Given the description of an element on the screen output the (x, y) to click on. 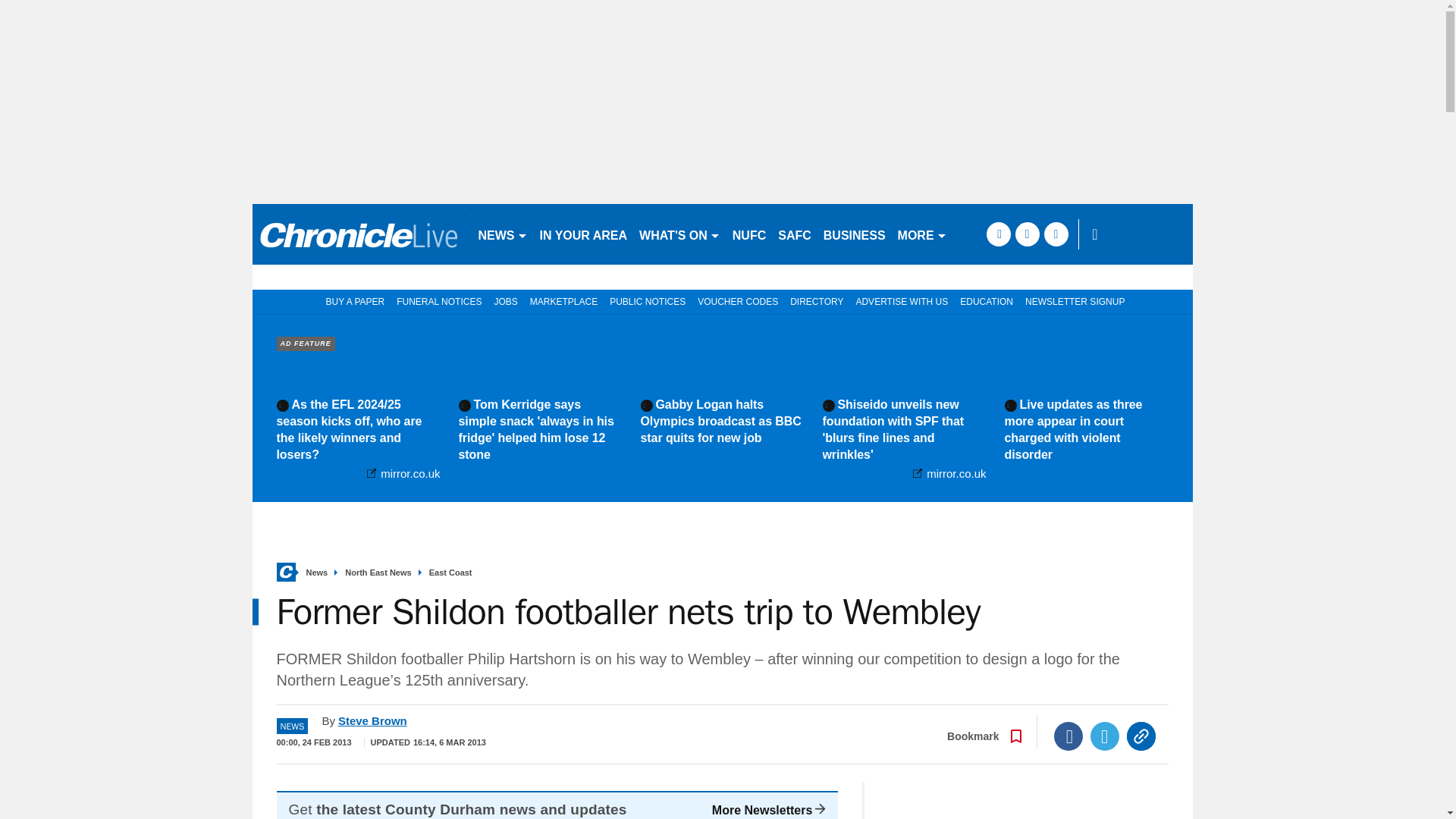
twitter (1026, 233)
MORE (922, 233)
Facebook (1068, 736)
Twitter (1104, 736)
facebook (997, 233)
WHAT'S ON (679, 233)
IN YOUR AREA (583, 233)
nechronicle (357, 233)
NEWS (501, 233)
BUSINESS (853, 233)
